Given the description of an element on the screen output the (x, y) to click on. 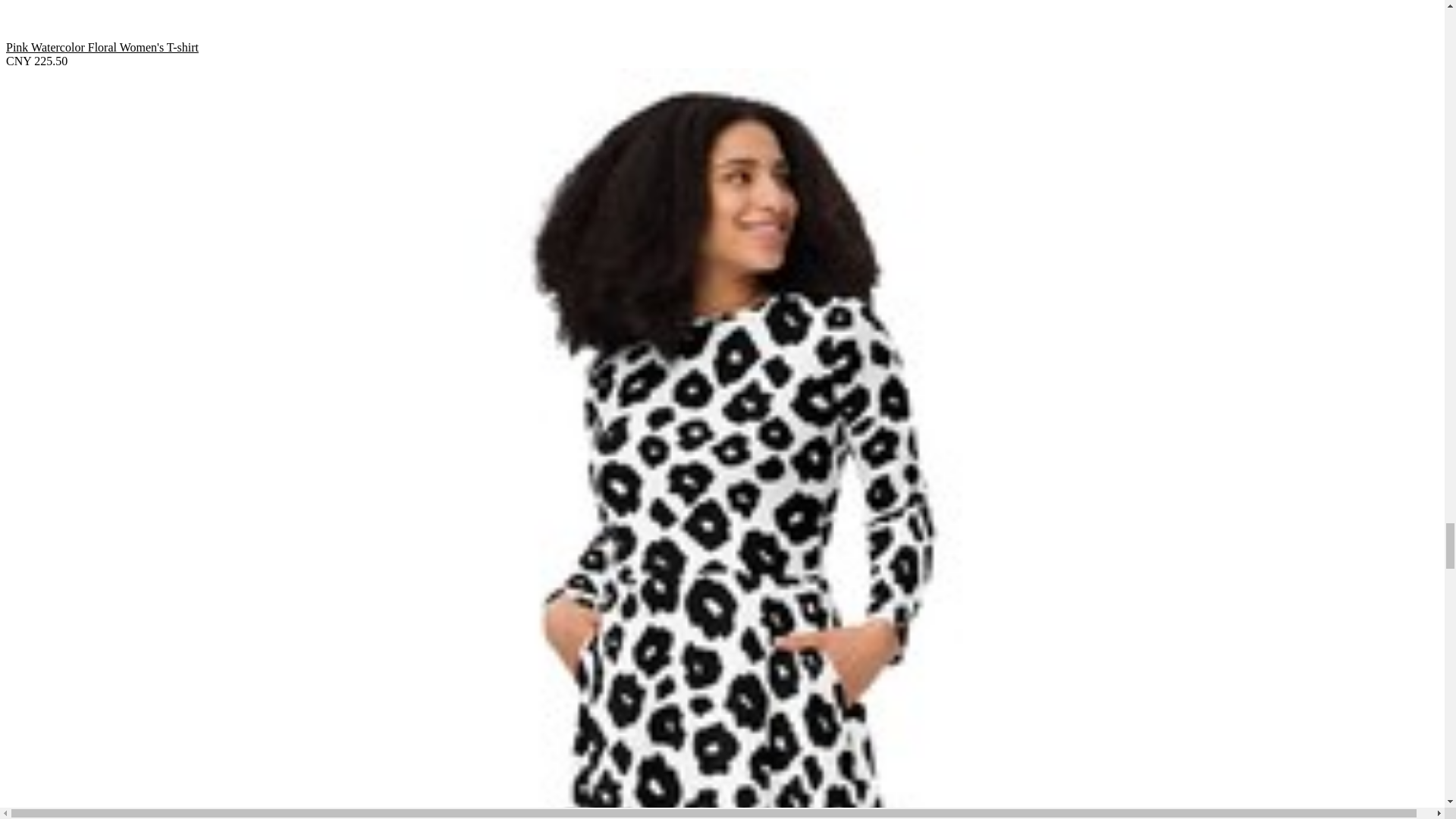
Pink Watercolor Floral Women's T-shirt (721, 47)
